Given the description of an element on the screen output the (x, y) to click on. 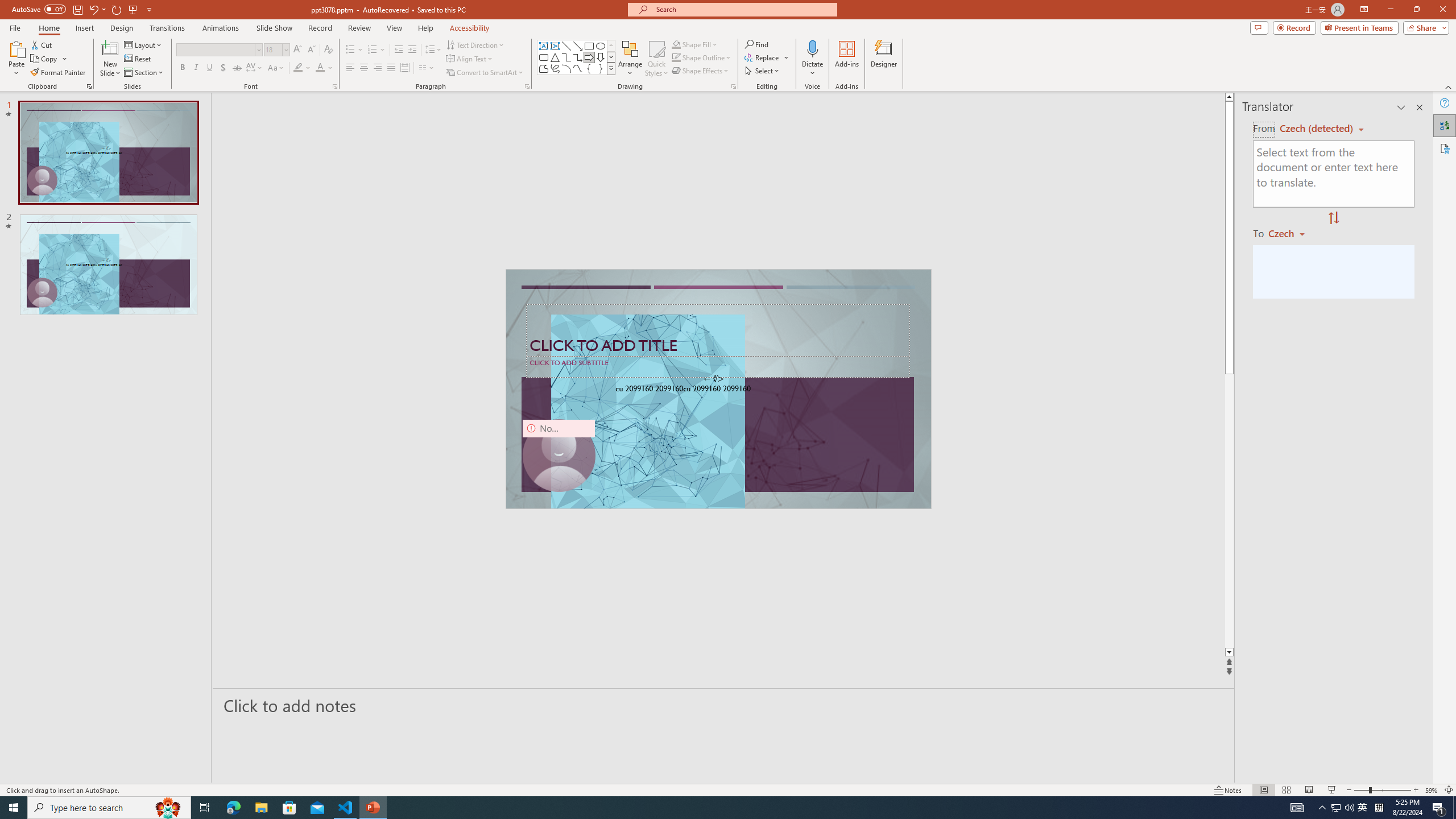
An abstract genetic concept (718, 388)
